Given the description of an element on the screen output the (x, y) to click on. 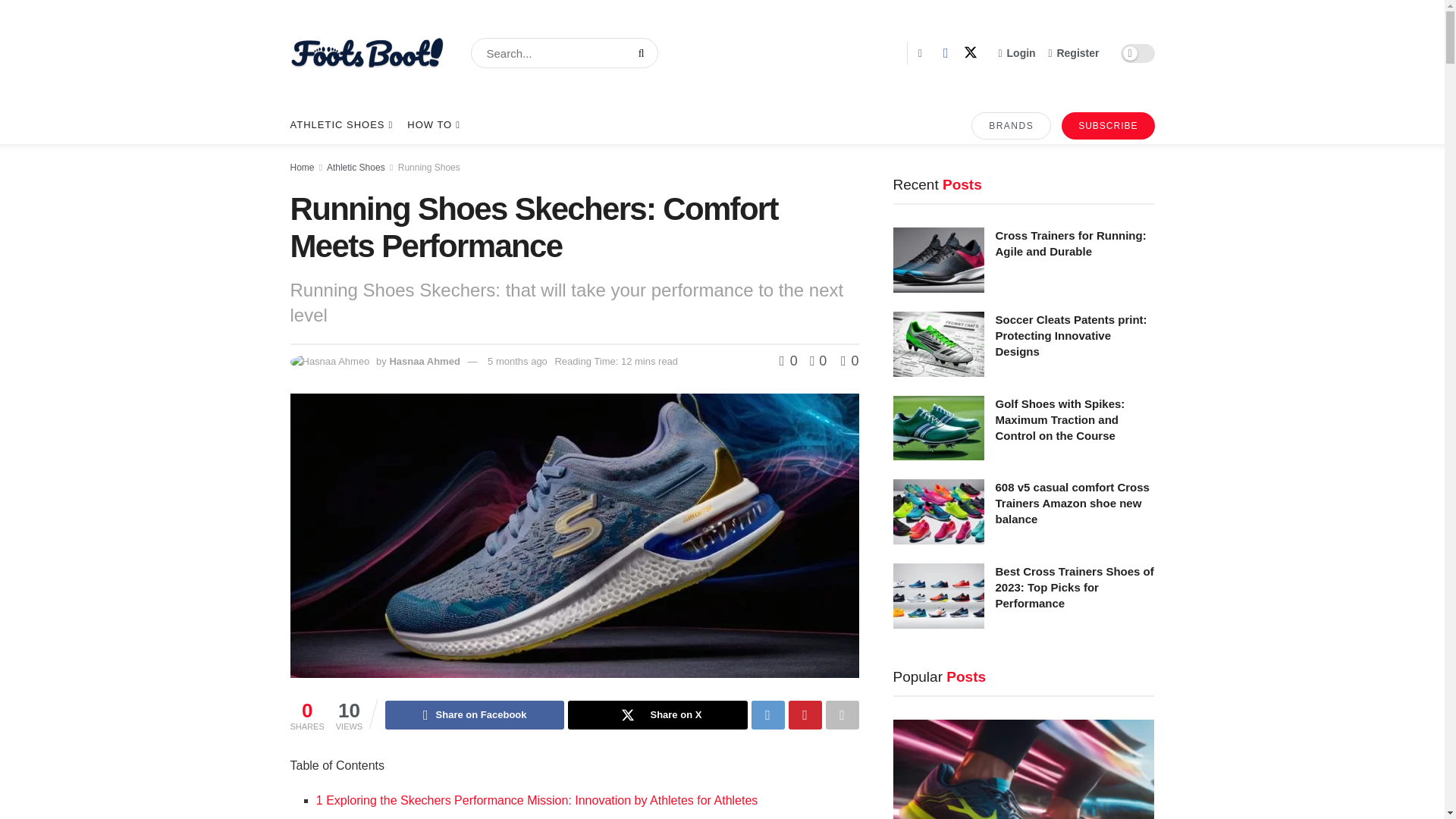
BRANDS (1011, 125)
Hasnaa Ahmed (424, 360)
Running Shoes (428, 167)
5 months ago (517, 360)
Login (1016, 53)
Register (1073, 53)
0 (790, 360)
SUBSCRIBE (1107, 125)
Athletic Shoes (355, 167)
